Given the description of an element on the screen output the (x, y) to click on. 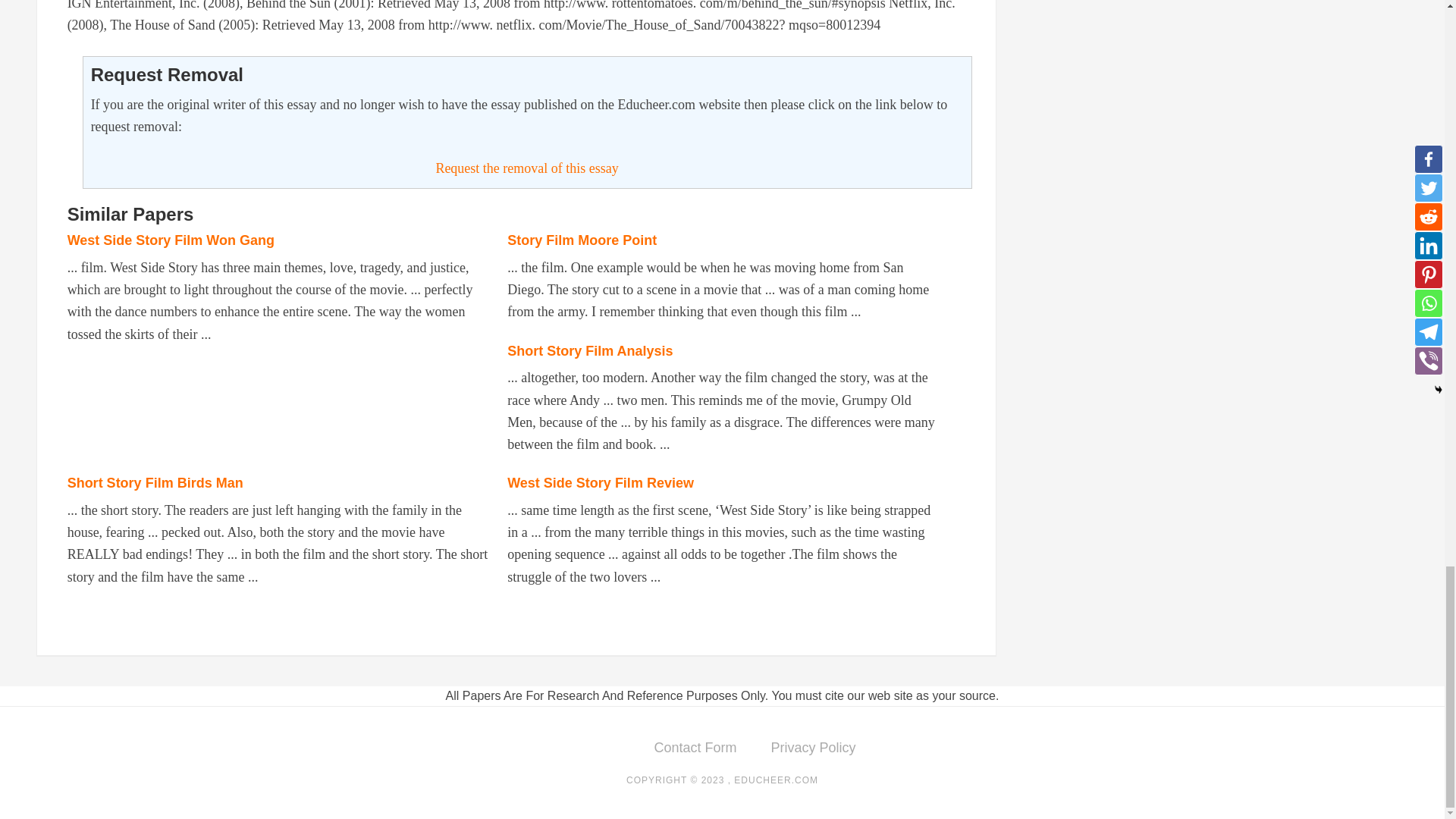
Short Story Film Analysis (589, 350)
Story Film Moore Point (581, 240)
Short Story Film Birds Man (154, 482)
West Side Story Film Won Gang (170, 240)
Request the removal of this essay (526, 168)
West Side Story Film Review (600, 482)
